Given the description of an element on the screen output the (x, y) to click on. 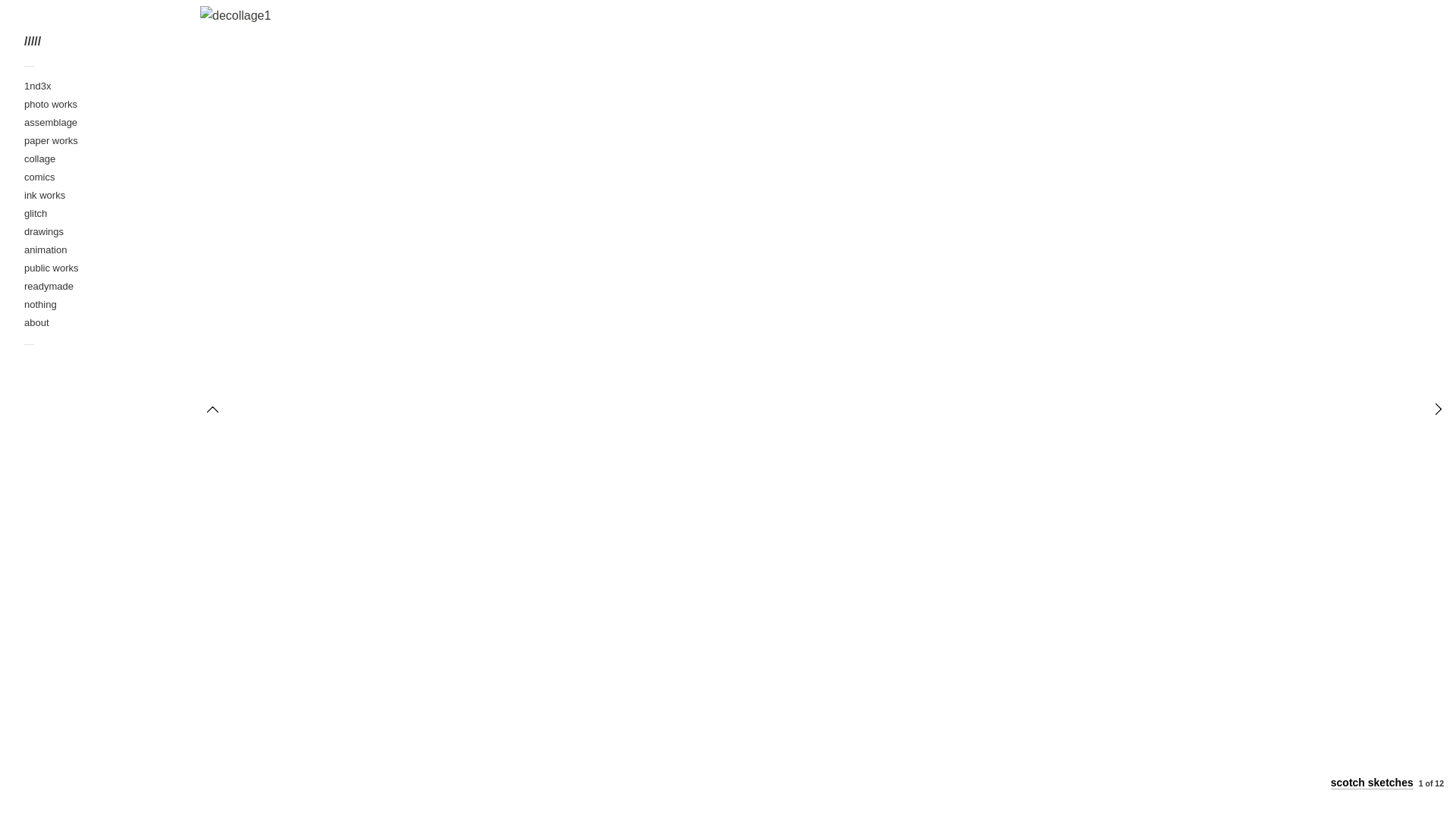
animation Element type: text (45, 250)
scotch sketches Element type: text (1371, 782)
glitch Element type: text (35, 213)
public works Element type: text (51, 268)
about Element type: text (36, 322)
comics Element type: text (39, 177)
assemblage Element type: text (50, 122)
nothing Element type: text (40, 304)
drawings Element type: text (43, 231)
ink works Element type: text (44, 195)
readymade Element type: text (48, 286)
1nd3x Element type: text (37, 86)
///// Element type: text (96, 41)
paper works Element type: text (51, 140)
collage Element type: text (39, 159)
photo works Element type: text (50, 104)
